Given the description of an element on the screen output the (x, y) to click on. 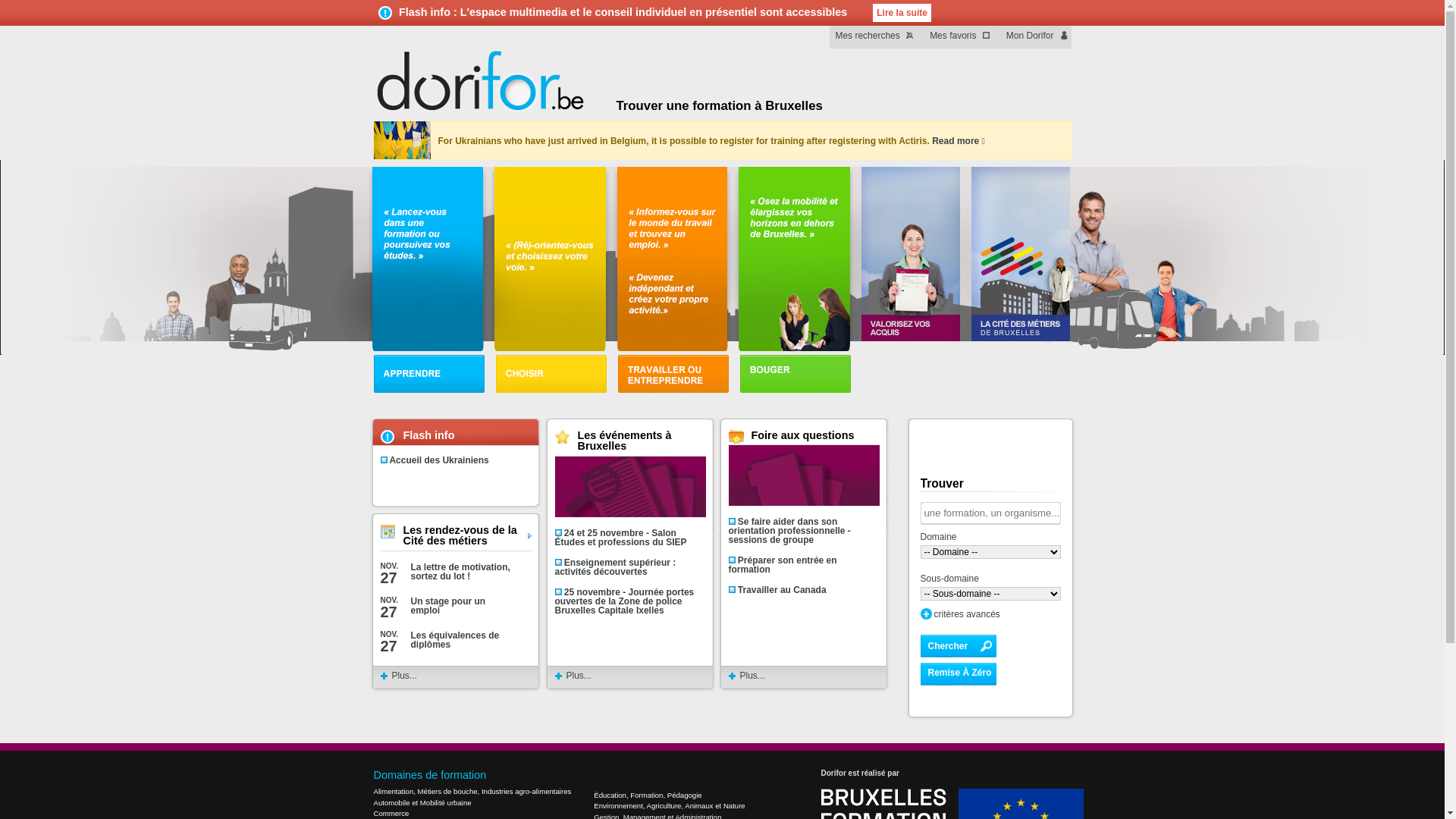
Mes favoris Element type: text (962, 36)
NOV.
27
Un stage pour un emploi Element type: text (448, 607)
Sous-domaine Element type: text (990, 574)
Plus... Element type: text (403, 675)
Chercher Element type: text (958, 645)
Plus... Element type: text (577, 675)
Environnement, Agriculture, Animaux et Nature Element type: text (668, 803)
Commerce Element type: text (472, 811)
Domaine Element type: text (990, 532)
Mes recherches Element type: text (876, 36)
Accueil des Ukrainiens Element type: text (438, 460)
Mon Dorifor Element type: text (1036, 36)
Travailler au Canada Element type: text (781, 589)
Plus... Element type: text (752, 675)
Lire la suite Element type: text (901, 12)
NOV.
27
La lettre de motivation, sortez du lot ! Element type: text (448, 573)
